Given the description of an element on the screen output the (x, y) to click on. 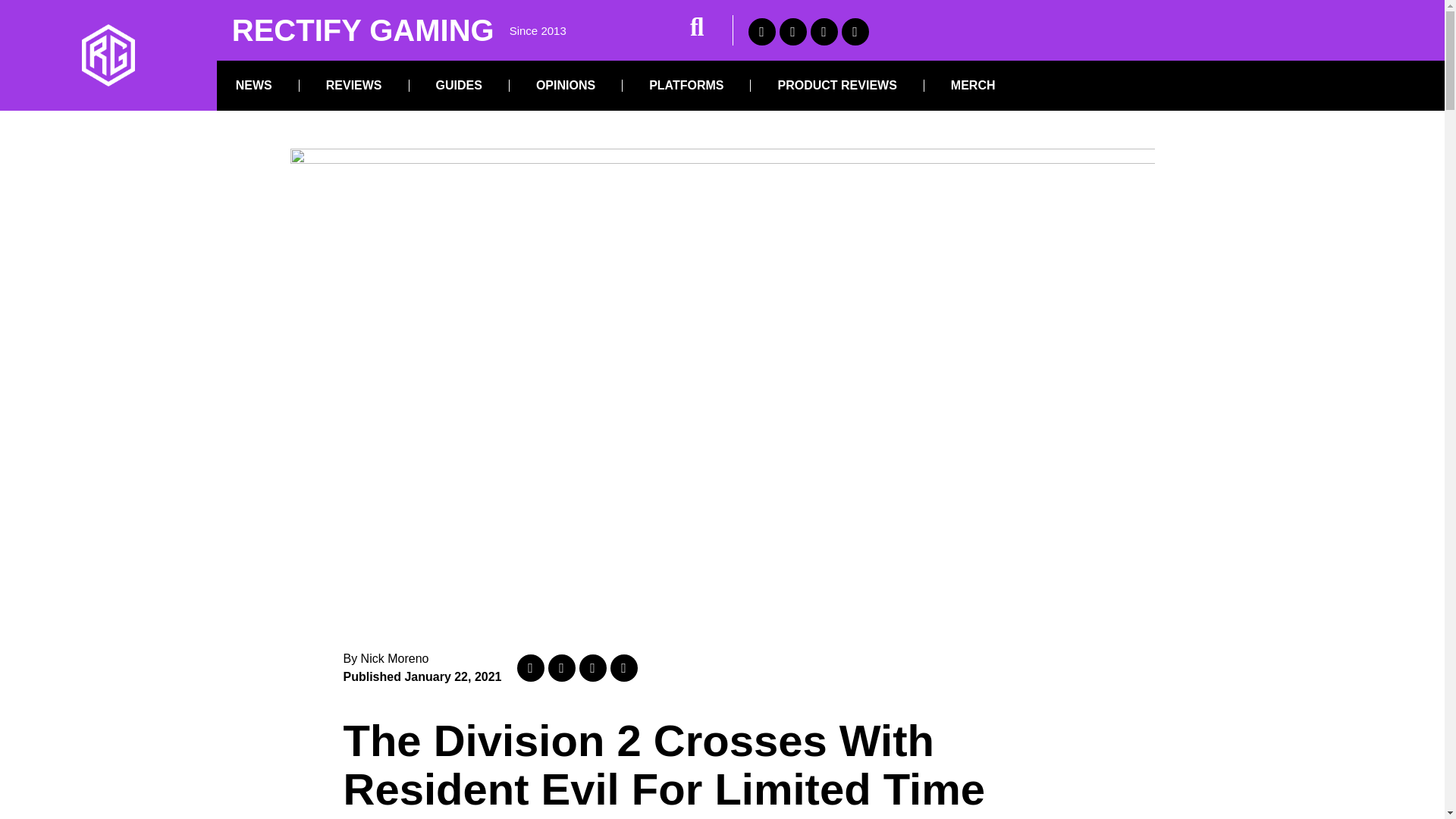
REVIEWS (354, 85)
PLATFORMS (685, 85)
GUIDES (458, 85)
RECTIFY GAMING (363, 29)
PRODUCT REVIEWS (836, 85)
OPINIONS (565, 85)
MERCH (973, 85)
NEWS (253, 85)
